Given the description of an element on the screen output the (x, y) to click on. 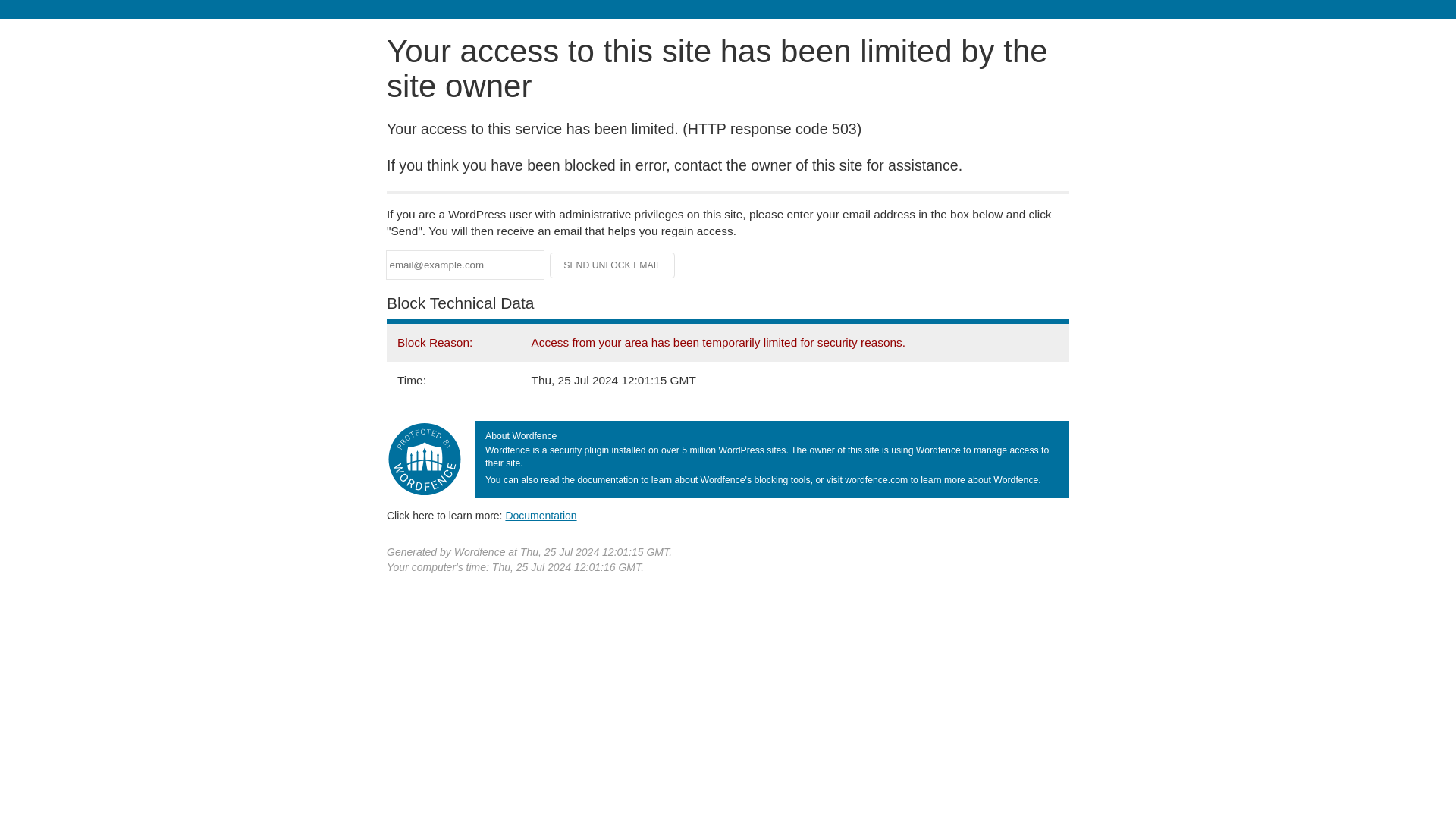
Send Unlock Email (612, 265)
Documentation (540, 515)
Send Unlock Email (612, 265)
